Given the description of an element on the screen output the (x, y) to click on. 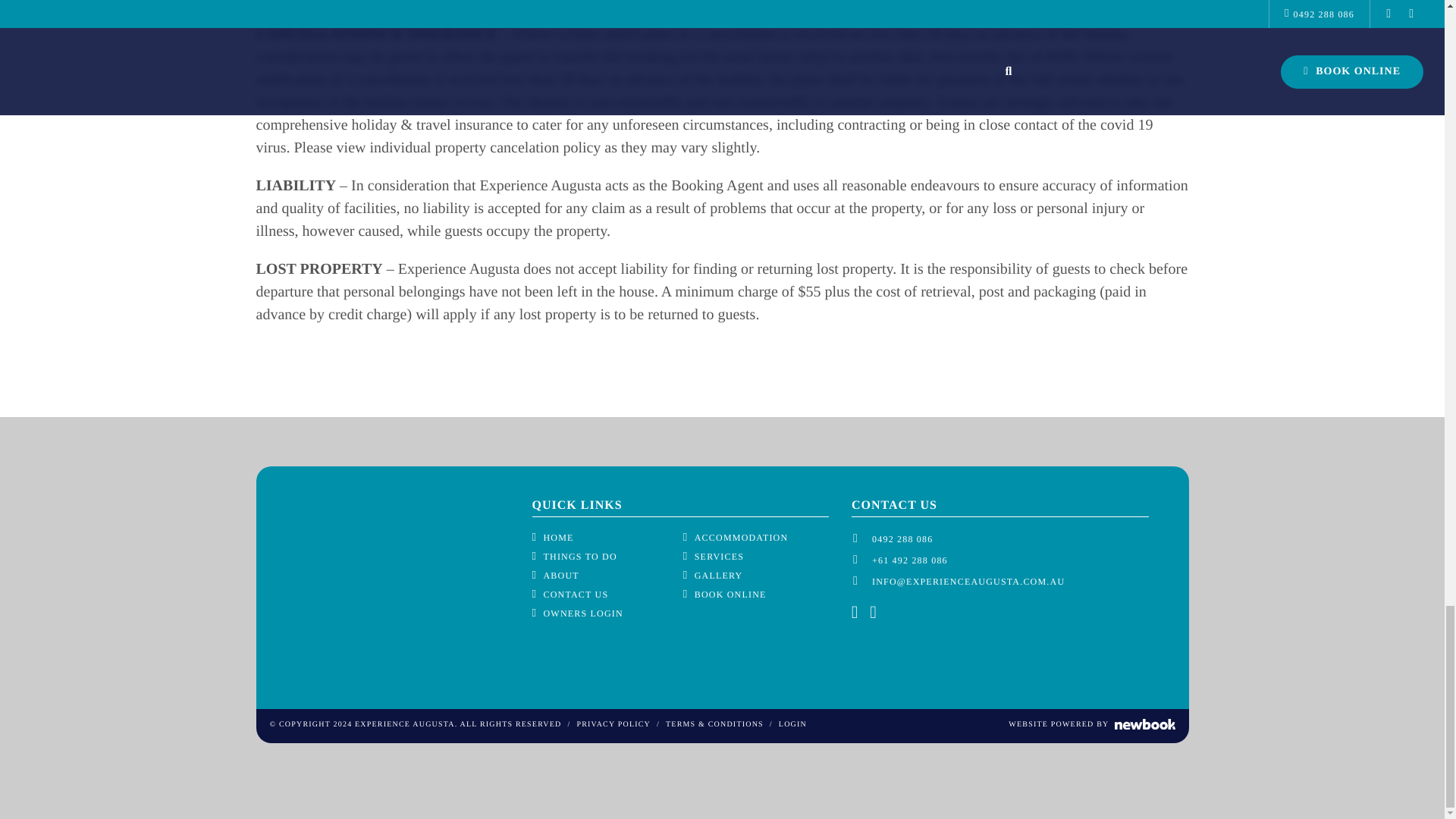
LOGIN (792, 724)
GALLERY (712, 575)
View our privacy policy (613, 724)
Log into the website editor (792, 724)
SERVICES (713, 556)
View our terms and conditions (713, 724)
HOME (552, 537)
OWNERS LOGIN (577, 612)
PRIVACY POLICY (613, 724)
CONTACT US (570, 594)
ABOUT (555, 575)
0492 288 086 (902, 539)
BOOK ONLINE (724, 594)
ACCOMMODATION (735, 537)
THINGS TO DO (574, 556)
